Given the description of an element on the screen output the (x, y) to click on. 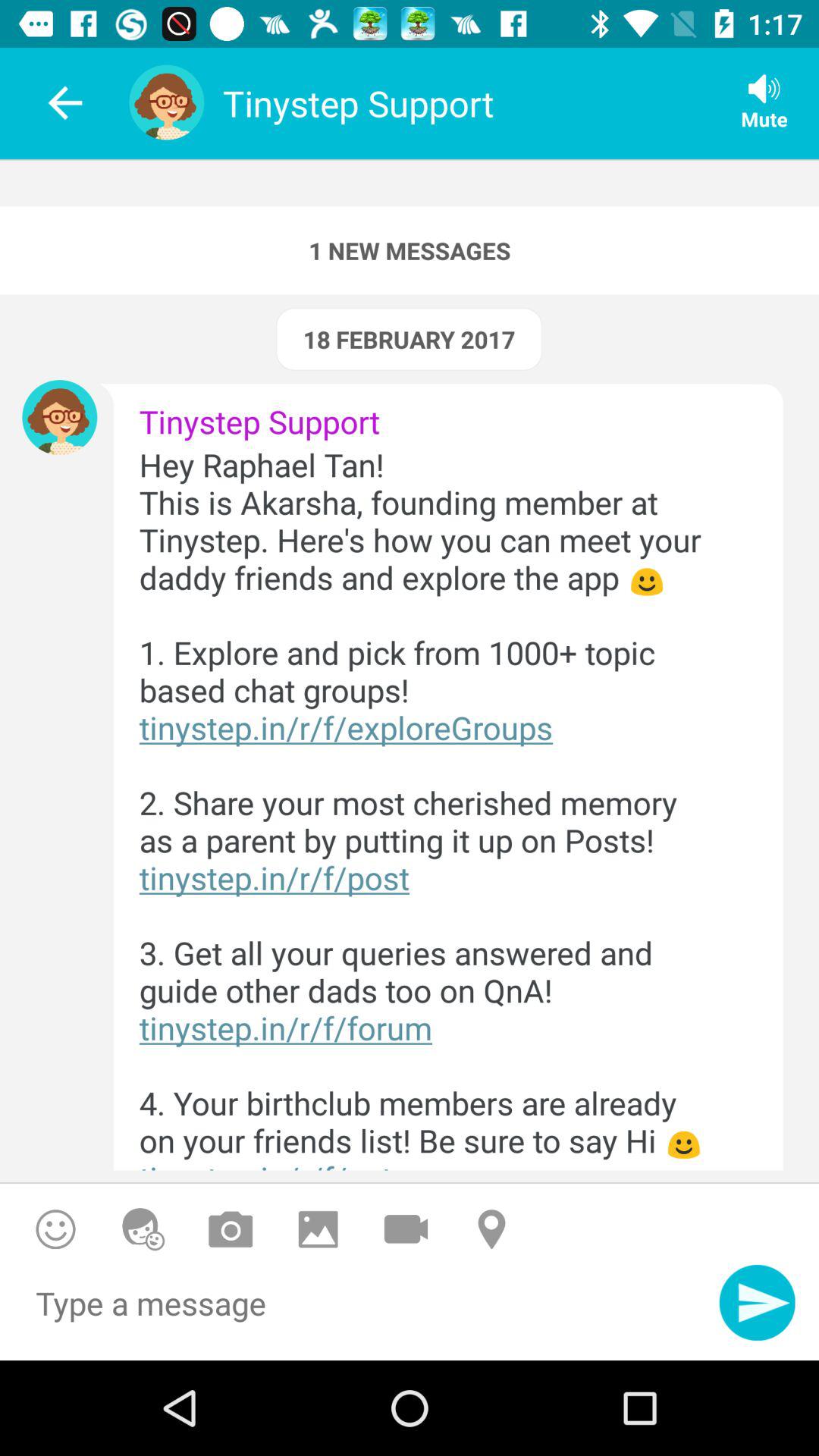
send a message (757, 1302)
